Given the description of an element on the screen output the (x, y) to click on. 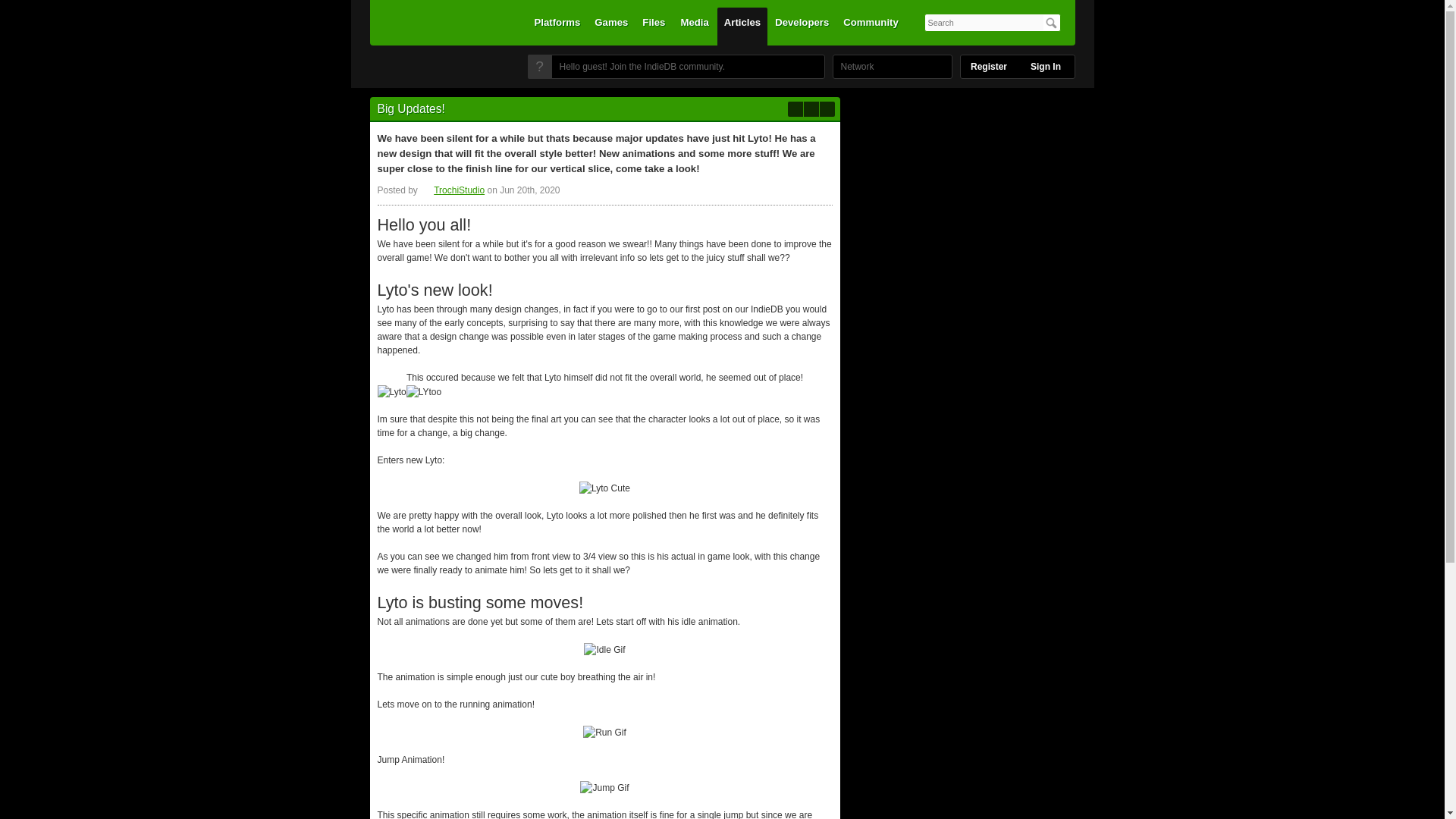
Post news (794, 109)
Join IndieDB (539, 66)
Files (652, 26)
DBolical (852, 66)
Article Manager (452, 190)
Report (810, 109)
Media (694, 26)
Search IndieDB (1050, 22)
Community (870, 26)
Articles (742, 26)
Developers (801, 26)
Games (611, 26)
Home (430, 70)
Platforms (557, 26)
Search (1050, 22)
